Given the description of an element on the screen output the (x, y) to click on. 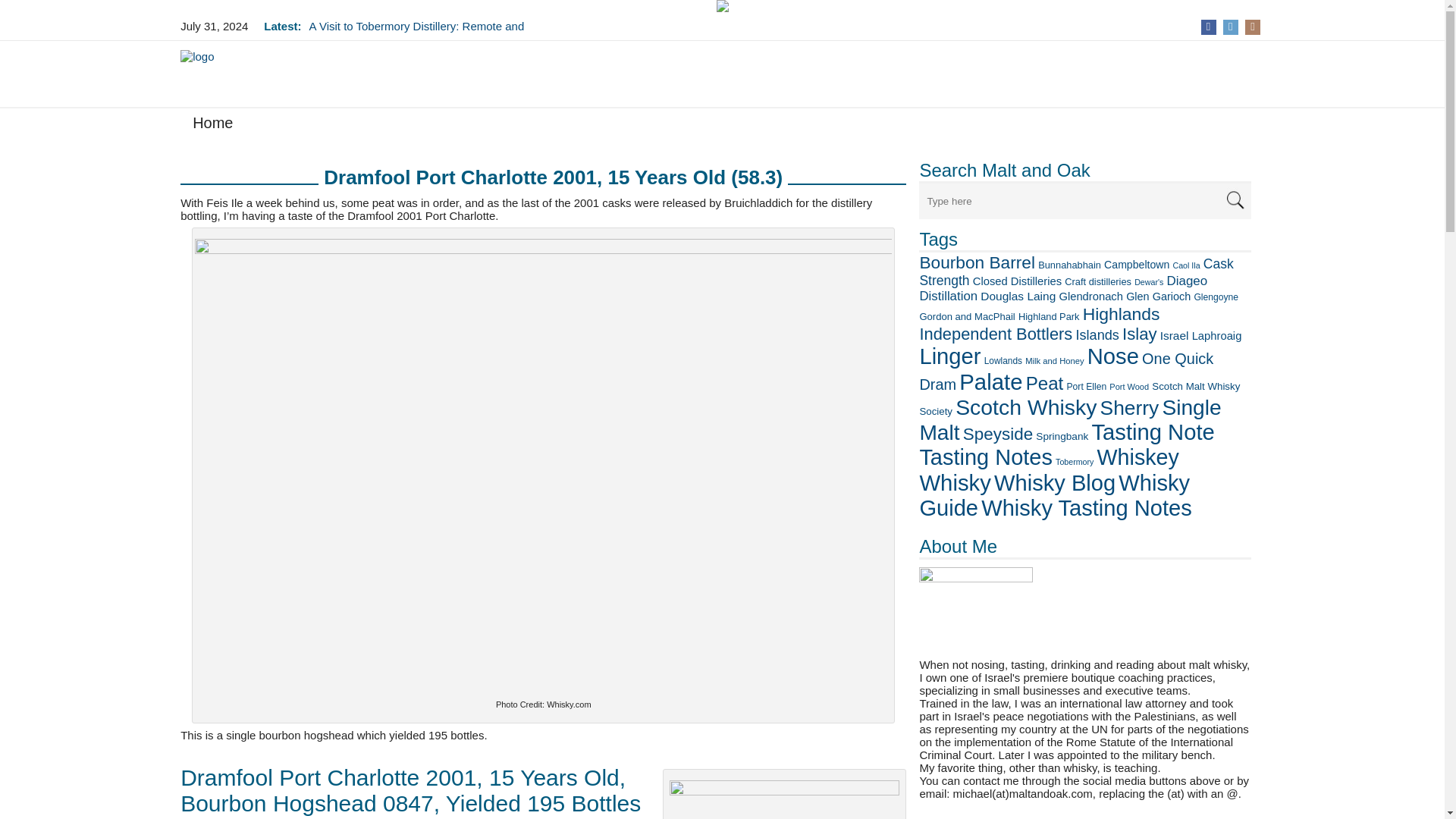
Bourbon Barrel (976, 261)
Distillation (947, 296)
Glen Garioch (1158, 296)
Caol Ila (1185, 265)
Diageo (1186, 280)
Craft distilleries (1097, 281)
Glendronach (1090, 296)
Search (1234, 199)
Closed Distilleries (1016, 281)
Douglas Laing (1017, 295)
Highlands (1121, 313)
Cask Strength (1075, 272)
Highland Park (1048, 316)
Home (212, 125)
